Given the description of an element on the screen output the (x, y) to click on. 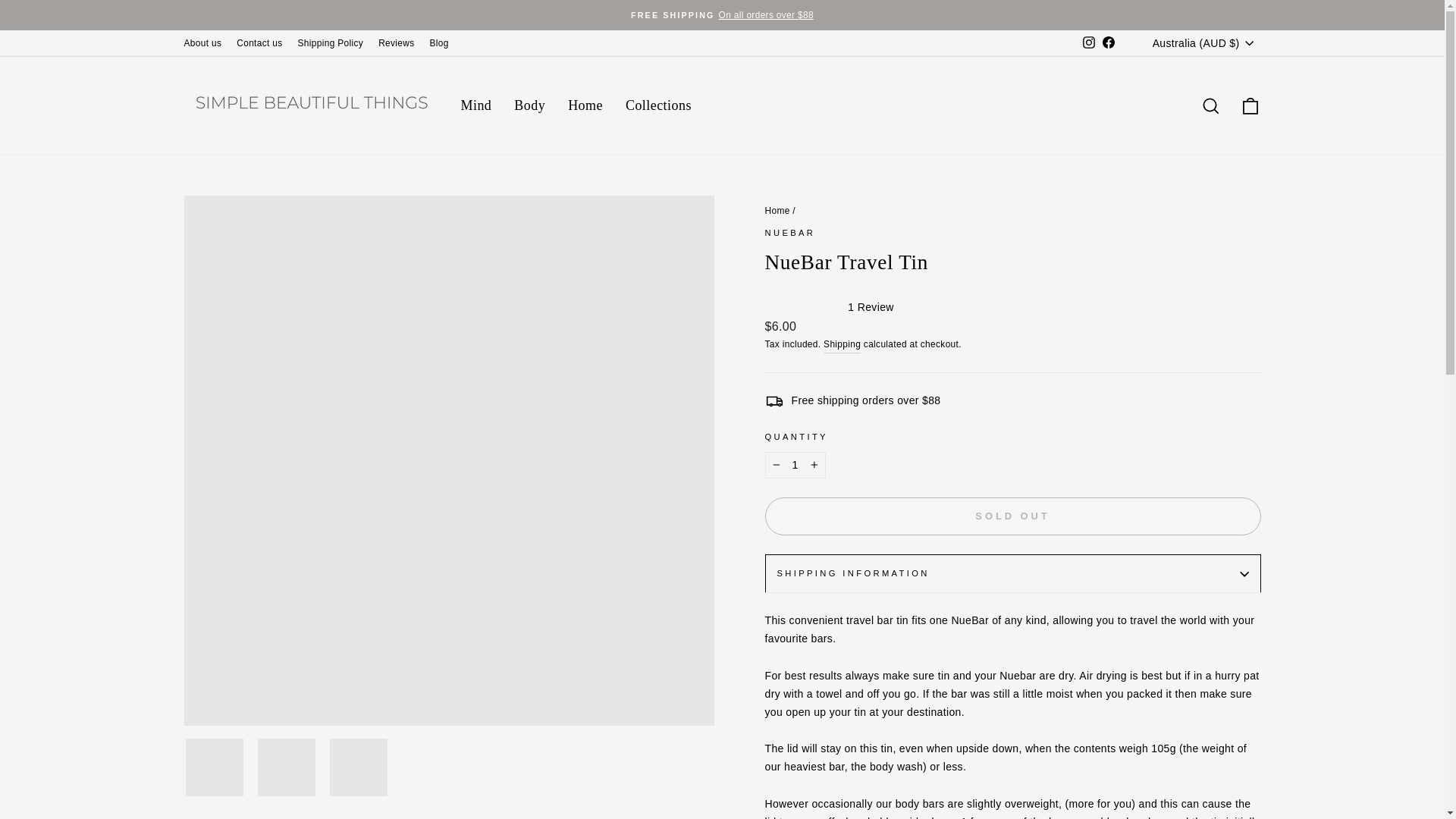
Nuebar (789, 232)
Back to the frontpage (776, 210)
1 (794, 465)
